Given the description of an element on the screen output the (x, y) to click on. 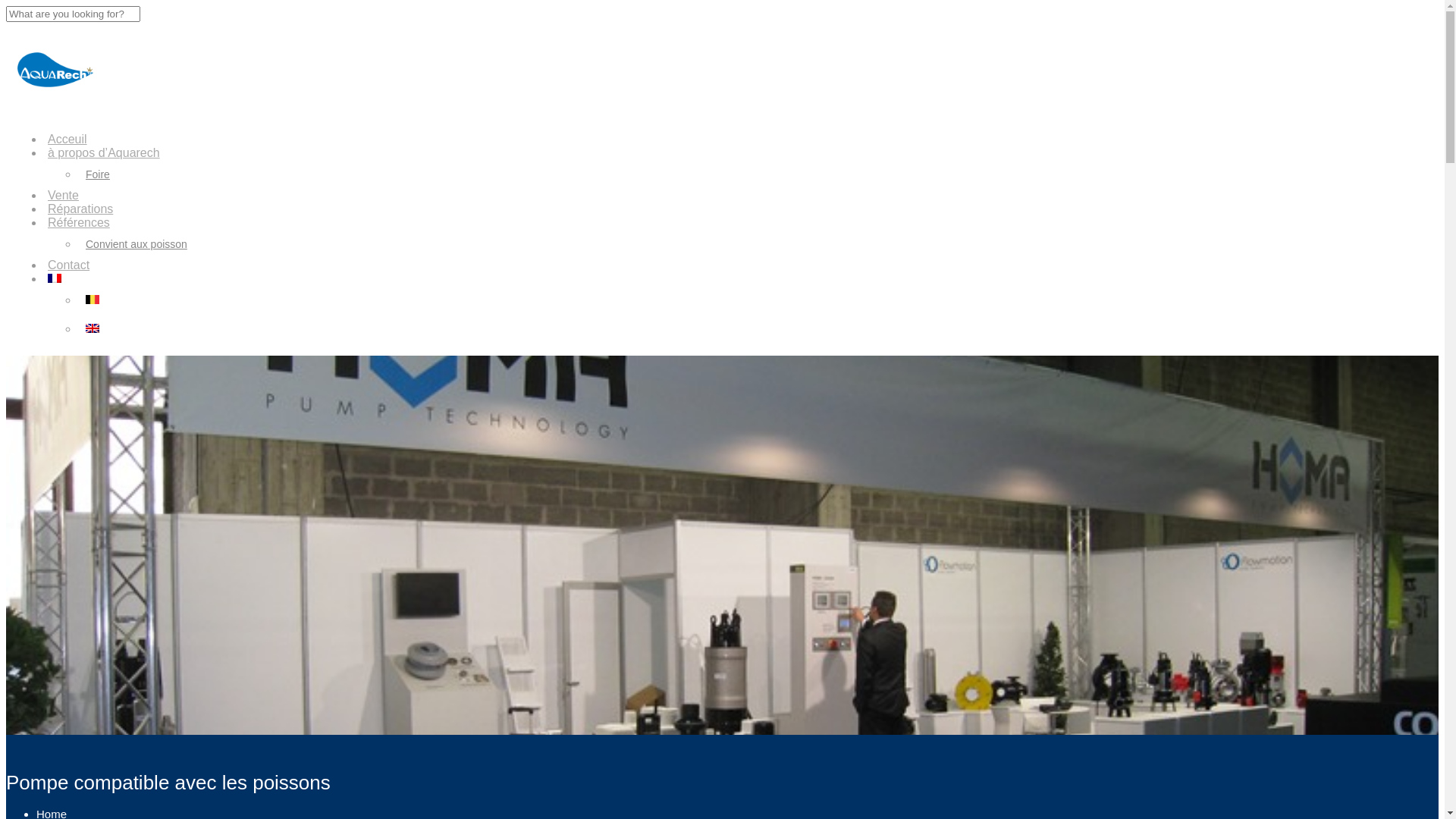
Contact Element type: text (68, 264)
Foire Element type: text (97, 174)
Acceuil Element type: text (67, 138)
Convient aux poisson Element type: text (136, 244)
Vente Element type: text (62, 194)
